Given the description of an element on the screen output the (x, y) to click on. 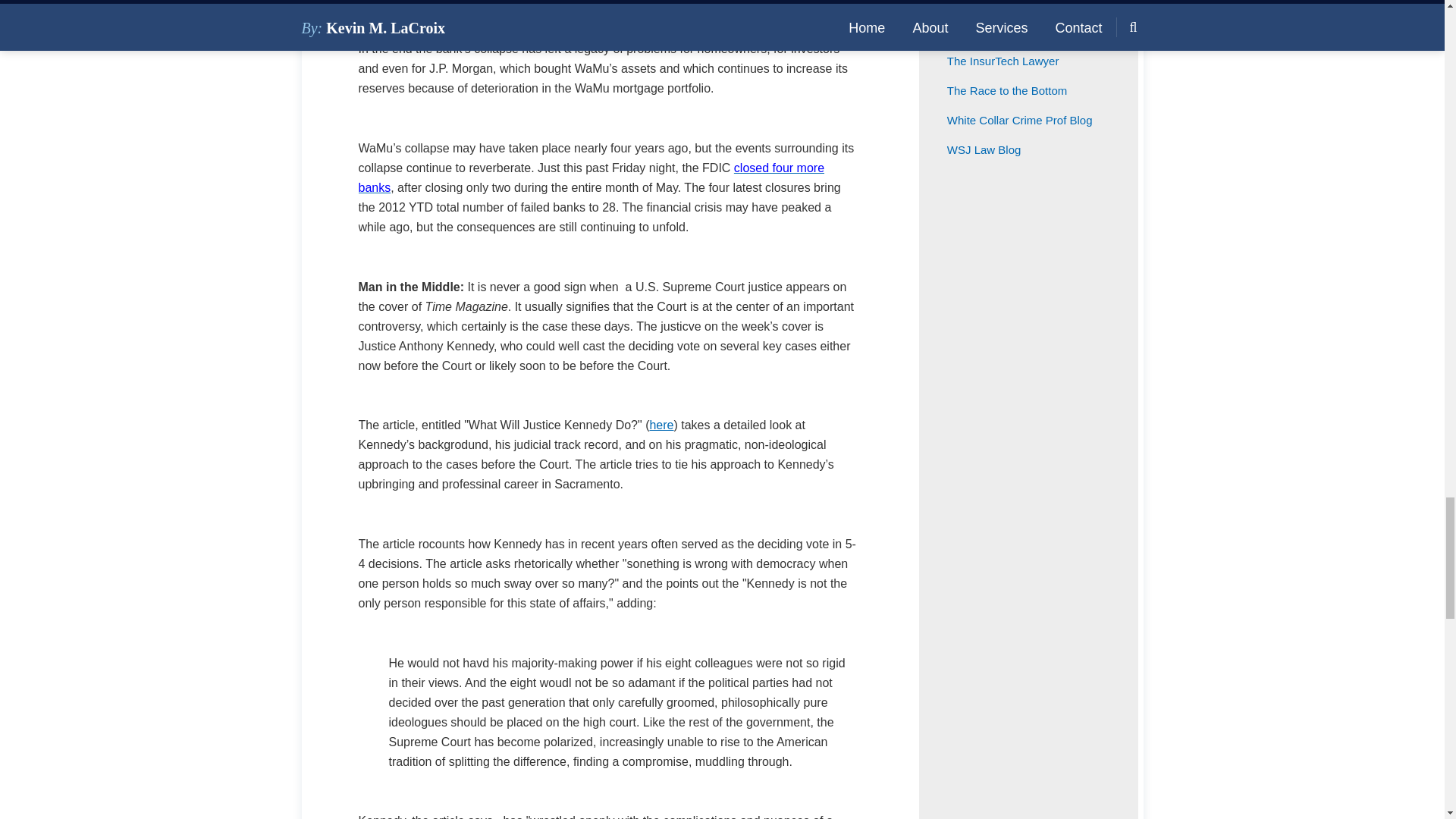
The InsurTech Lawyer (1003, 60)
closed four more banks (591, 177)
here (660, 424)
